Given the description of an element on the screen output the (x, y) to click on. 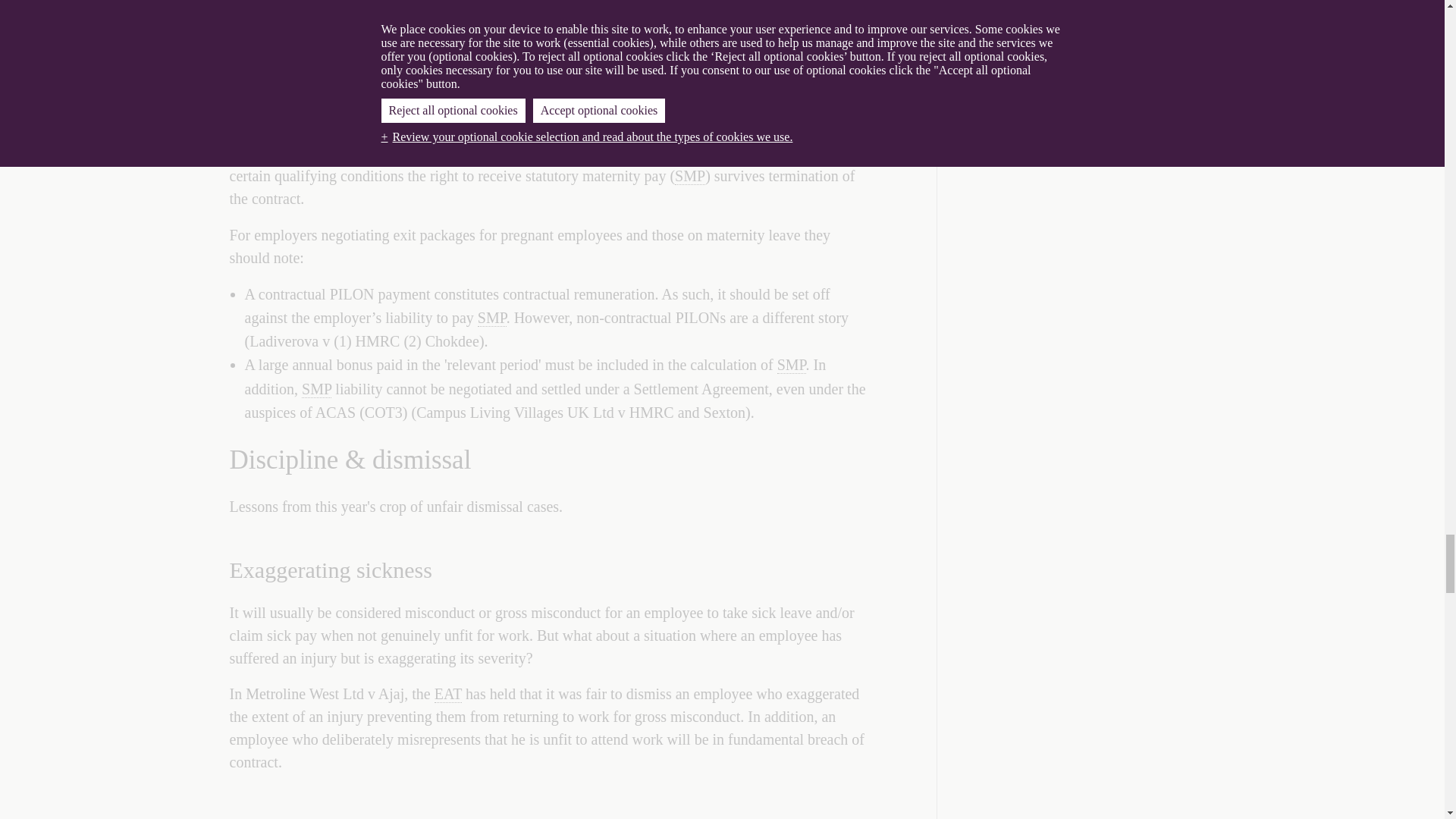
statutory maternity pay (791, 364)
statutory maternity pay (491, 317)
statutory maternity pay (689, 176)
